Given the description of an element on the screen output the (x, y) to click on. 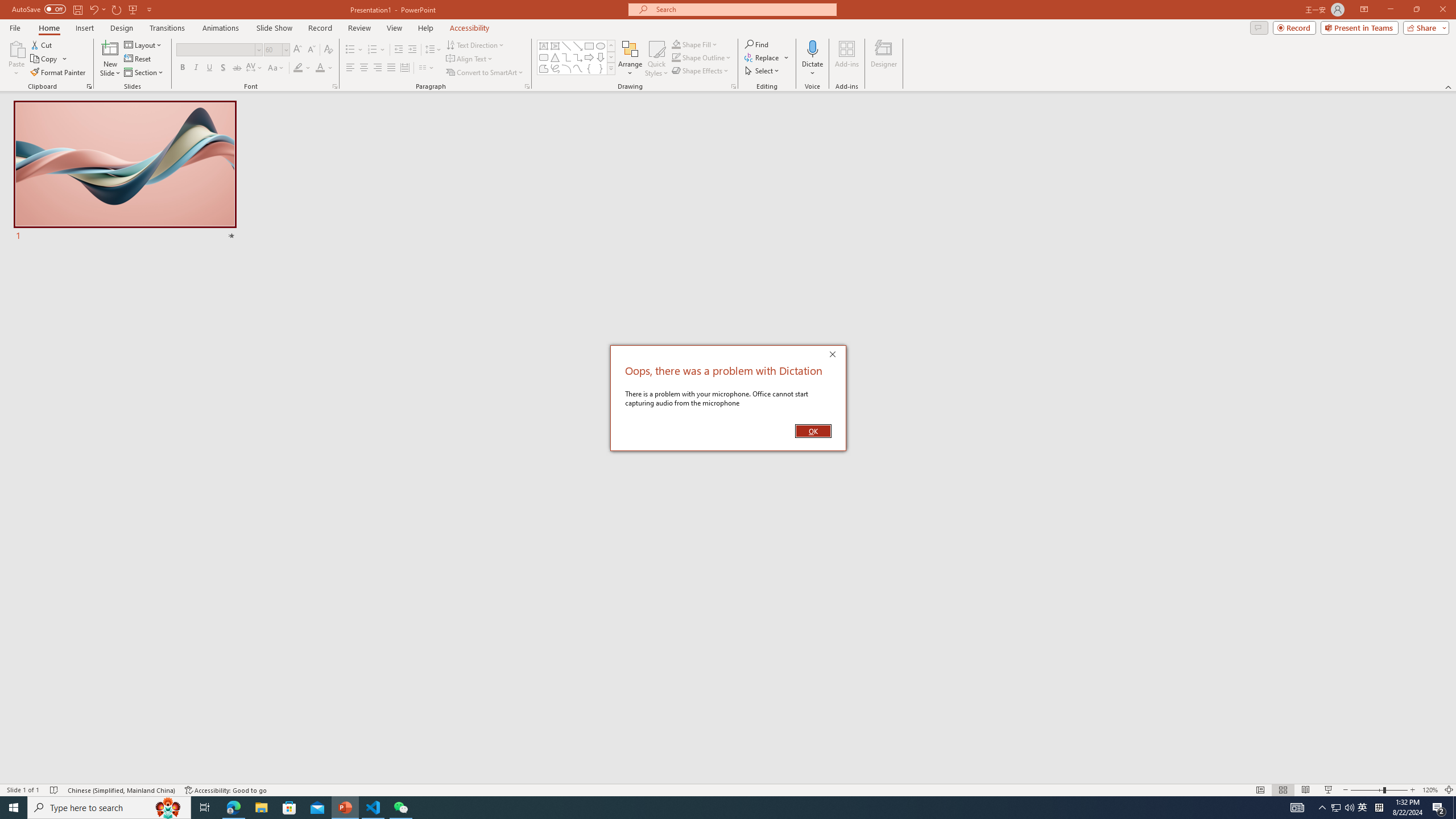
Microsoft Edge - 1 running window (233, 807)
PowerPoint - 1 running window (345, 807)
Italic (195, 67)
Strikethrough (237, 67)
Arrow: Down (600, 57)
AutomationID: ShapesInsertGallery (1362, 807)
